Given the description of an element on the screen output the (x, y) to click on. 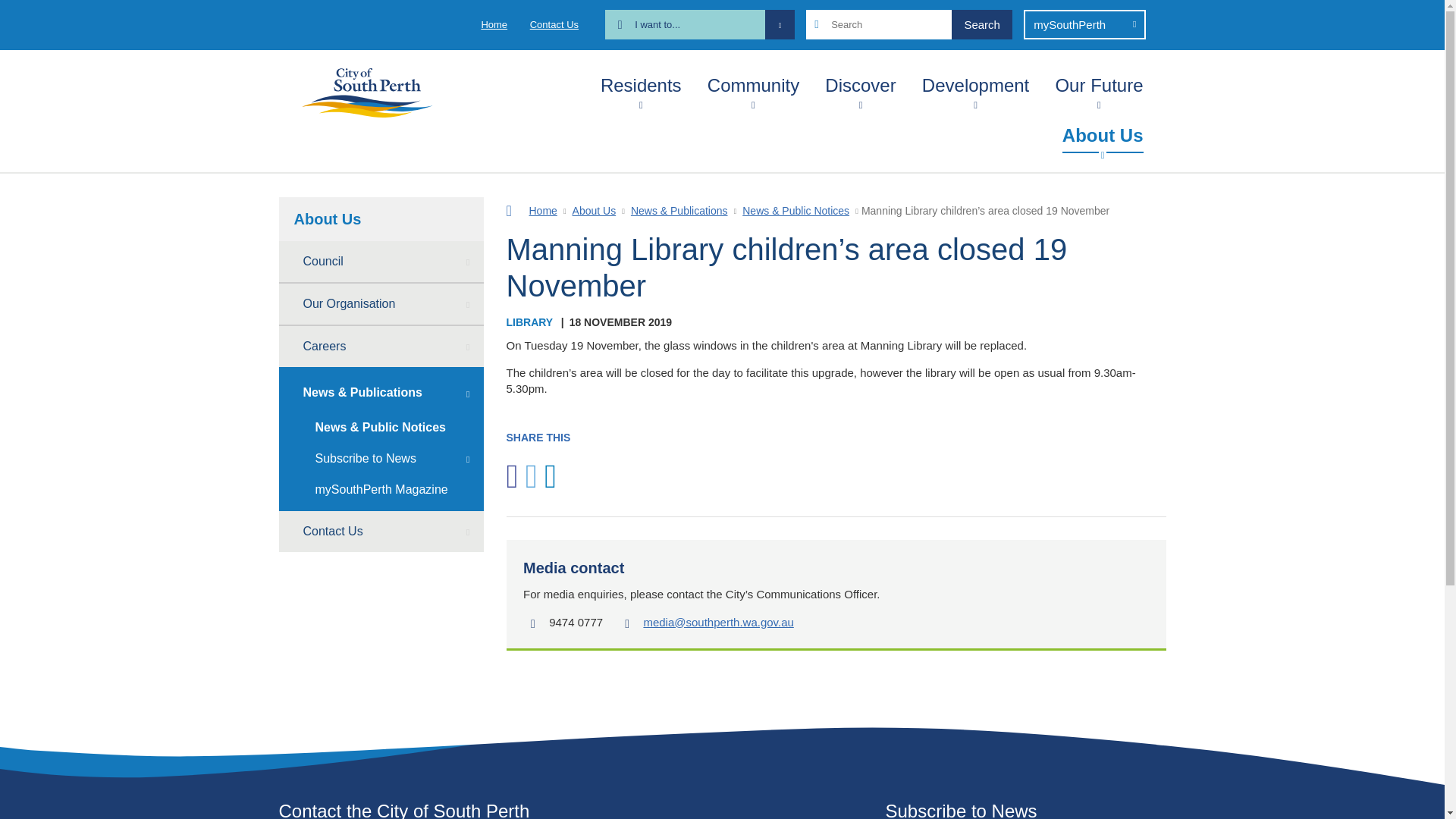
mySouthPerth (1084, 24)
Search input (908, 24)
Residents (640, 82)
Contact Us (553, 24)
Search (981, 24)
Home (493, 24)
